Given the description of an element on the screen output the (x, y) to click on. 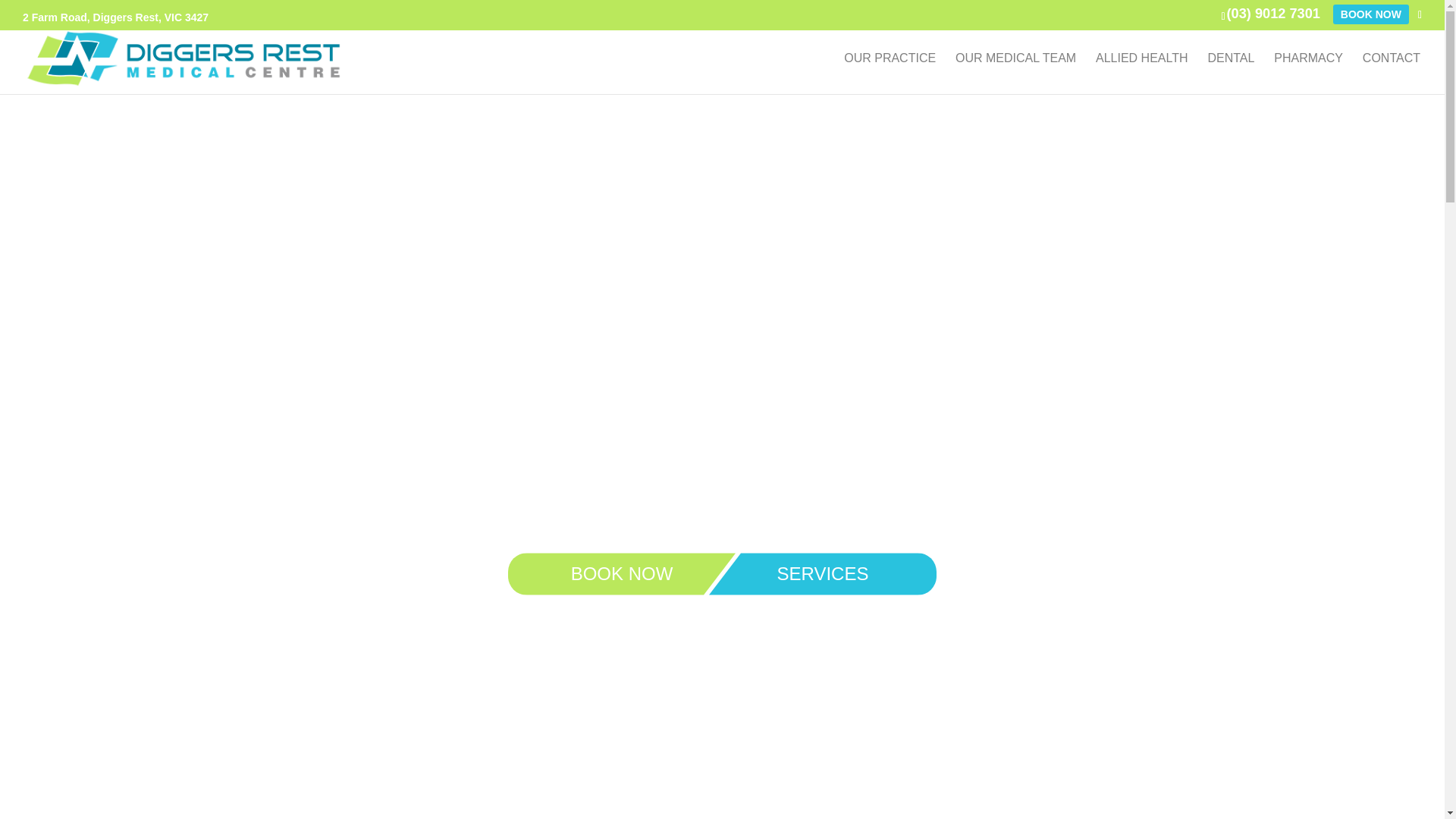
OUR MEDICAL TEAM Element type: text (1015, 73)
DENTAL Element type: text (1230, 73)
(03) 9012 7301 Element type: text (1273, 13)
ALLIED HEALTH Element type: text (1141, 73)
BOOK NOW Element type: text (1370, 13)
2 Farm Road, Diggers Rest, VIC 3427 Element type: text (115, 18)
BOOK NOW Element type: text (621, 573)
PHARMACY Element type: text (1308, 73)
CONTACT Element type: text (1391, 73)
SERVICES Element type: text (822, 573)
OUR PRACTICE Element type: text (889, 73)
